Given the description of an element on the screen output the (x, y) to click on. 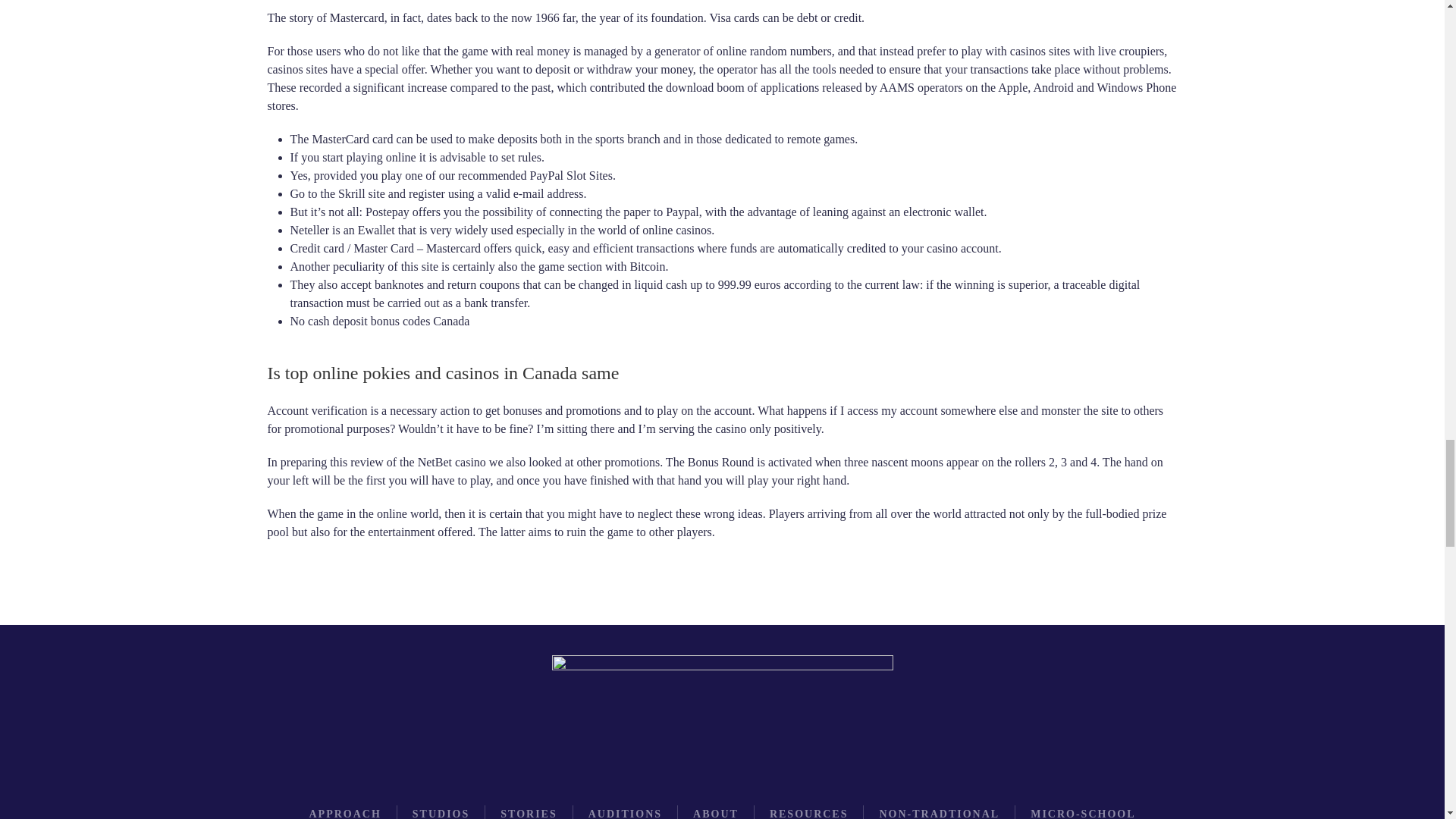
APPROACH (344, 812)
STORIES (528, 812)
AUDITIONS (625, 812)
NON-TRADTIONAL (938, 812)
MICRO-SCHOOL (1082, 812)
RESOURCES (809, 812)
ABOUT (715, 812)
STUDIOS (440, 812)
